Given the description of an element on the screen output the (x, y) to click on. 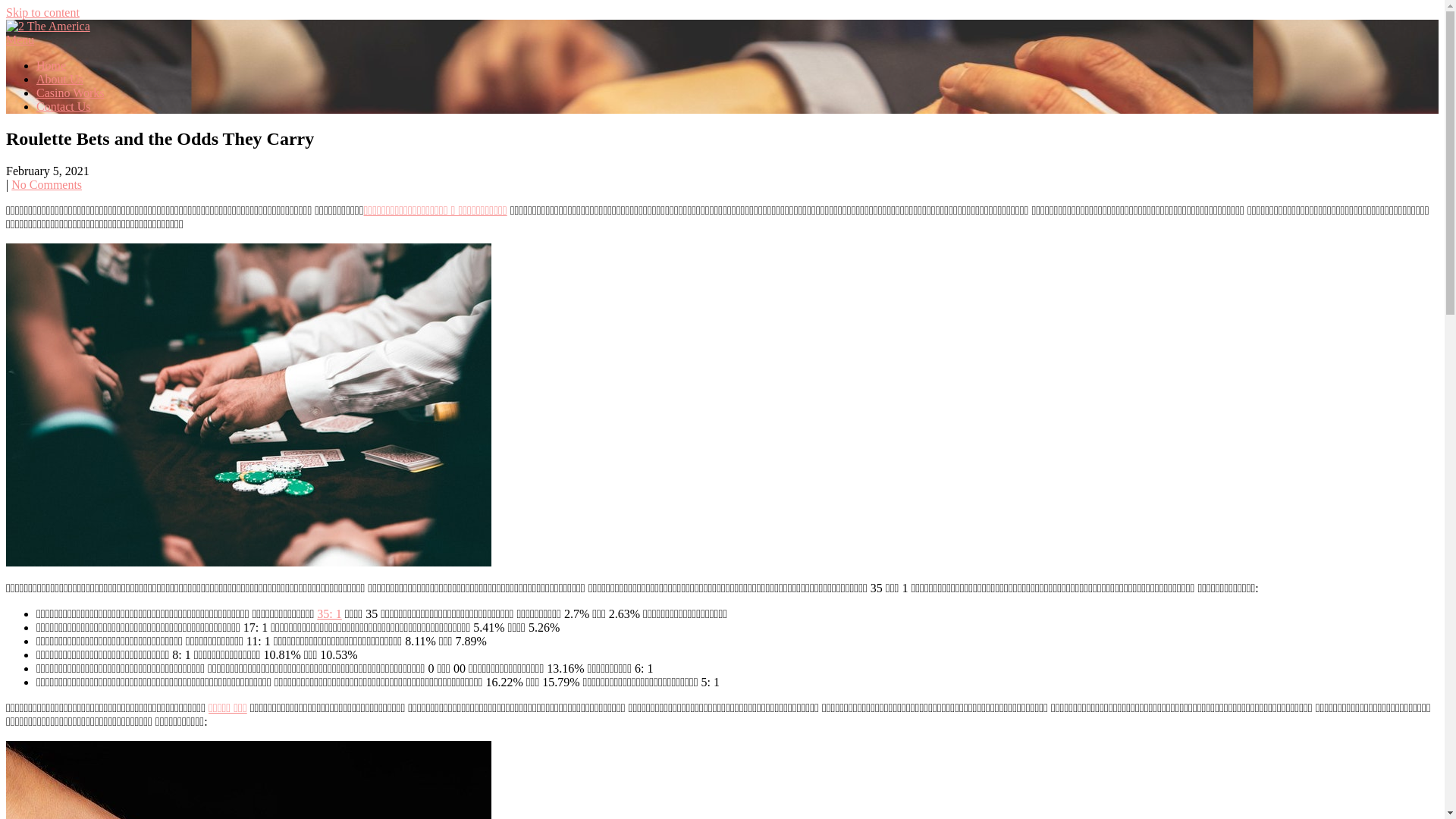
Contact Us Element type: text (63, 106)
About Us Element type: text (59, 78)
Skip to content Element type: text (42, 12)
No Comments Element type: text (46, 184)
Casino Works Element type: text (70, 92)
Menu Element type: text (20, 39)
2 The America Element type: text (81, 62)
35: 1 Element type: text (328, 613)
Home Element type: text (50, 65)
